Given the description of an element on the screen output the (x, y) to click on. 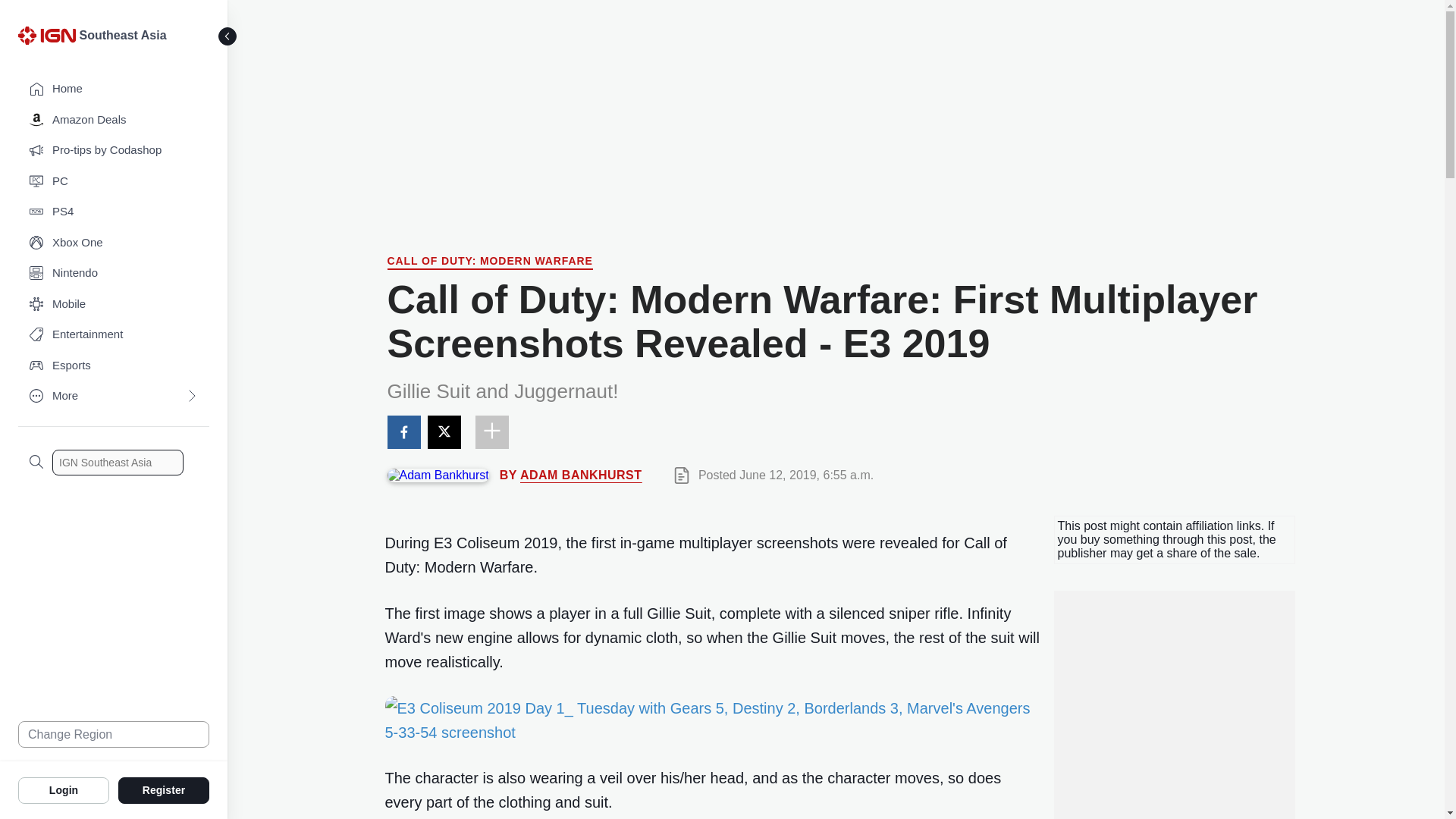
ADAM BANKHURST (580, 474)
CALL OF DUTY: MODERN WARFARE (489, 262)
Call of Duty: Modern Warfare (489, 262)
IGN Logo (46, 34)
Xbox One (113, 242)
Toggle Sidebar (226, 36)
Home (113, 89)
Register (163, 789)
Pro-tips by Codashop (113, 150)
PC (113, 181)
